Given the description of an element on the screen output the (x, y) to click on. 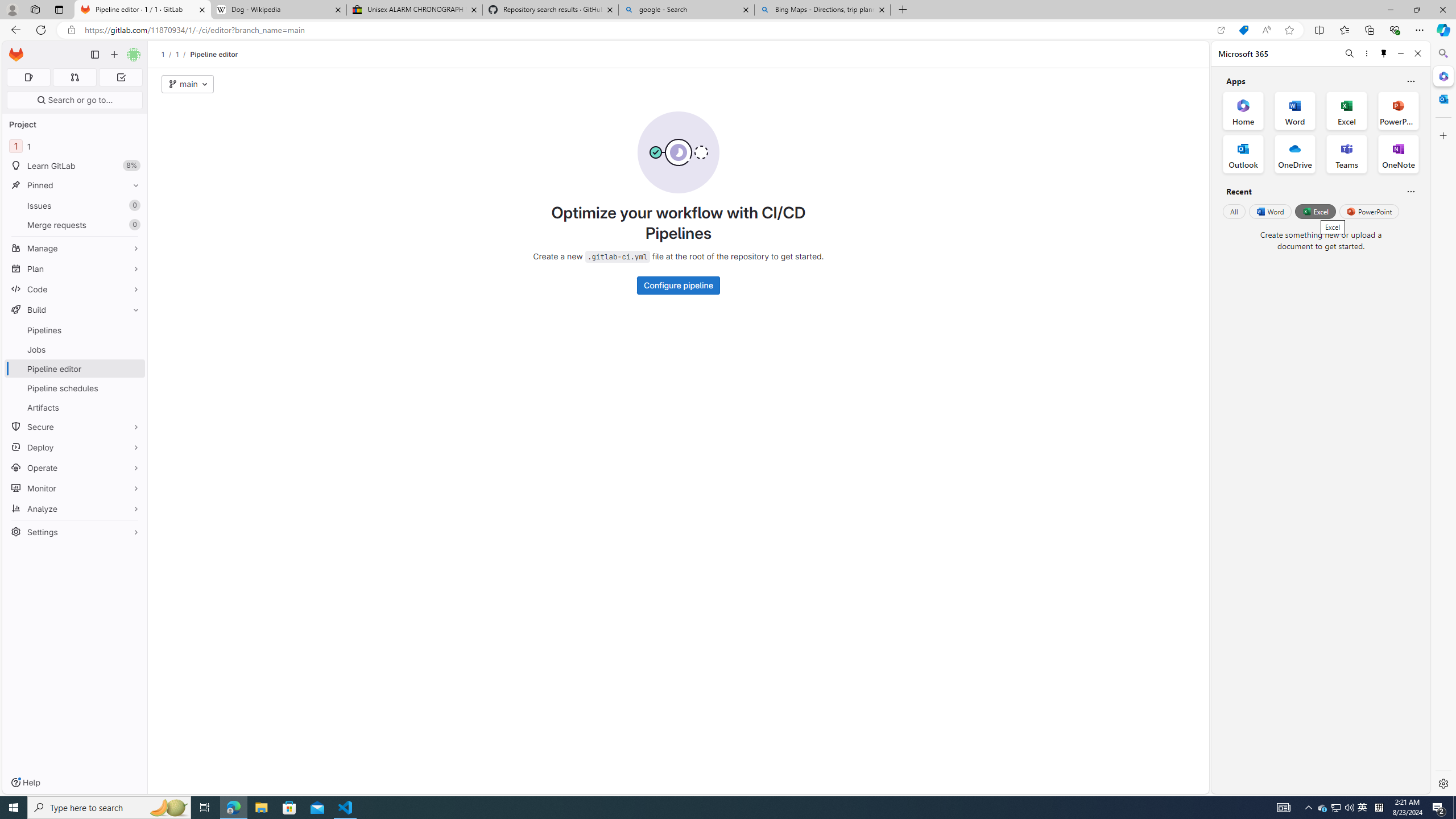
Issues0 (74, 205)
Learn GitLab8% (74, 165)
Assigned issues 0 (28, 76)
Code (74, 289)
Pin Pipeline editor (132, 368)
Plan (74, 268)
Analyze (74, 508)
